Given the description of an element on the screen output the (x, y) to click on. 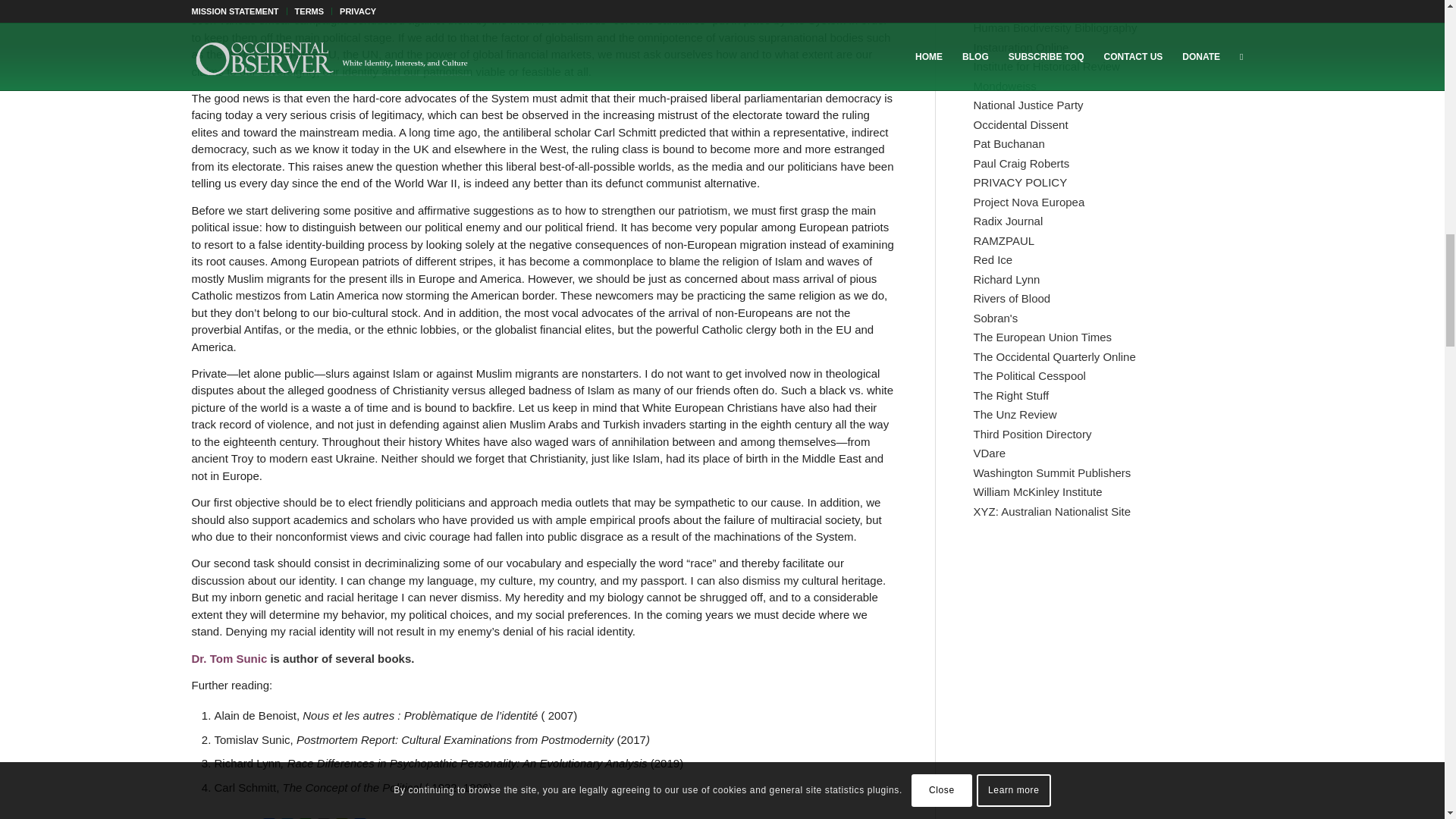
Dr. Tom Sunic (228, 658)
